Given the description of an element on the screen output the (x, y) to click on. 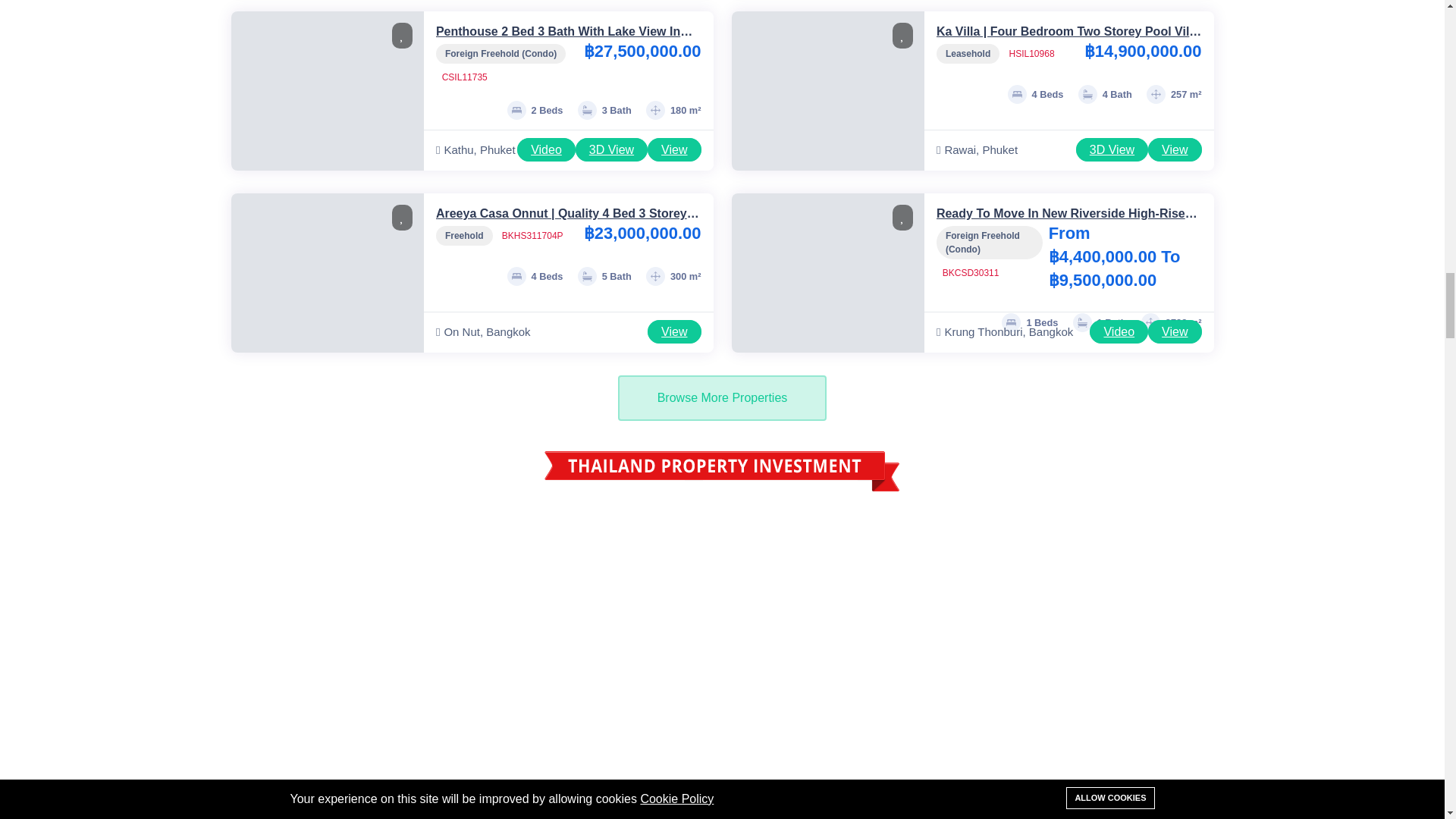
Kathu, Phuket (475, 149)
On Nut, Bangkok (541, 331)
Penthouse 2 Bed 3 Bath with Lake view in Kathu (564, 39)
Rawai, Phuket (1005, 149)
